Given the description of an element on the screen output the (x, y) to click on. 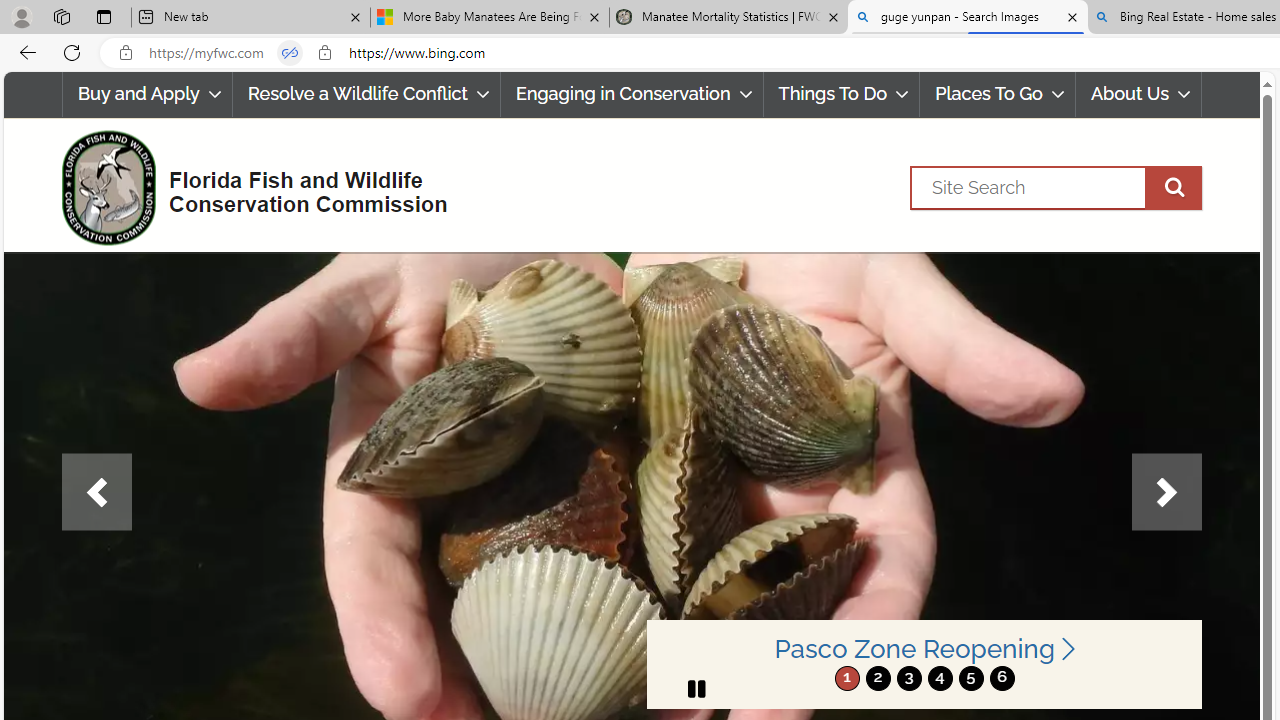
Engaging in Conservation (631, 94)
move to slide 5 (970, 678)
Tabs in split screen (289, 53)
2 (877, 678)
Resolve a Wildlife Conflict (365, 94)
guge yunpan - Search Images (967, 17)
move to slide 1 (847, 678)
move to slide 2 (877, 678)
About Us (1138, 94)
1 (847, 678)
Previous (96, 491)
Manatee Mortality Statistics | FWC (729, 17)
